Given the description of an element on the screen output the (x, y) to click on. 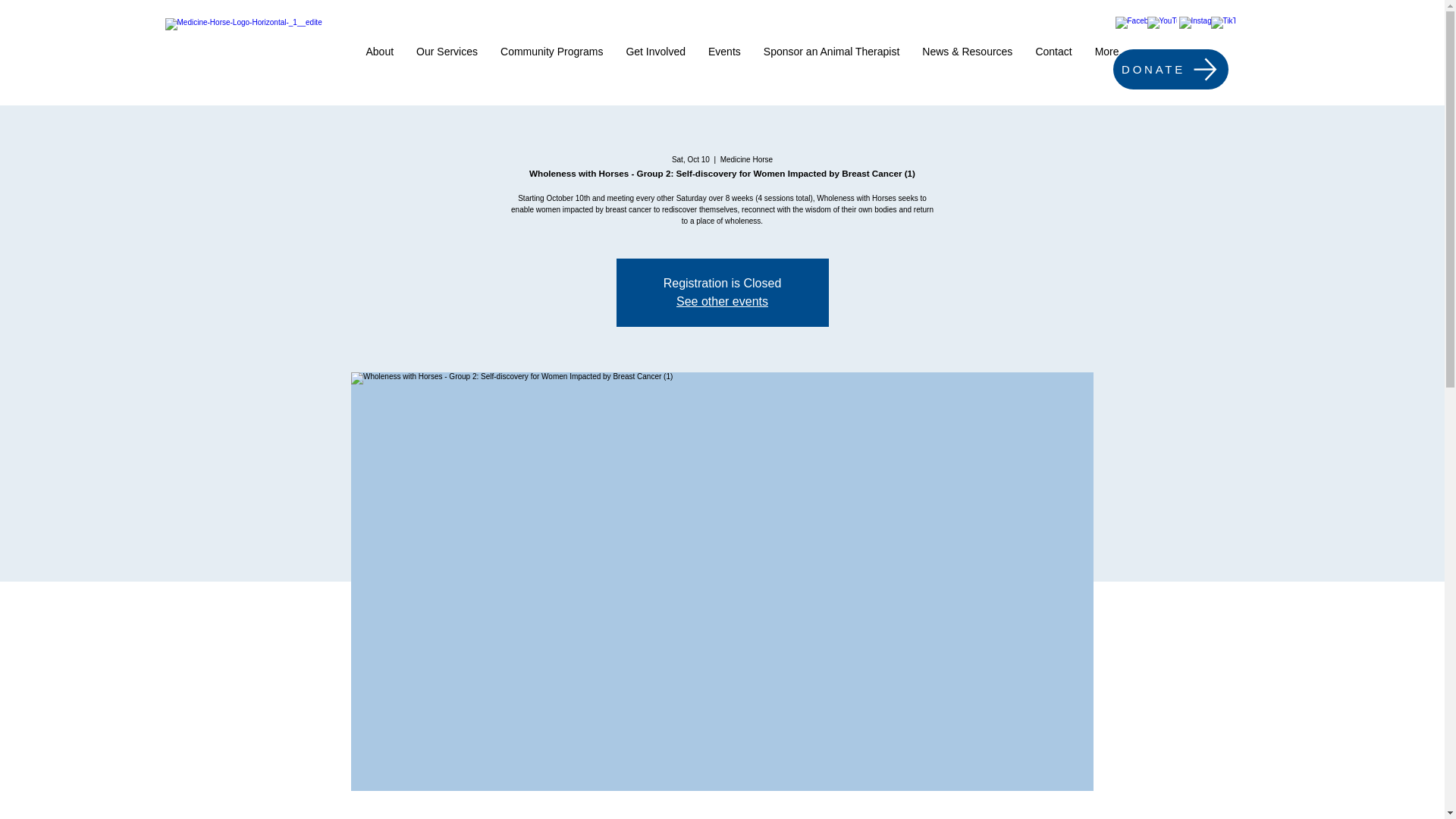
DONATE (1170, 69)
Contact (1053, 65)
See other events (722, 300)
About (380, 65)
Sponsor an Animal Therapist (831, 65)
